Given the description of an element on the screen output the (x, y) to click on. 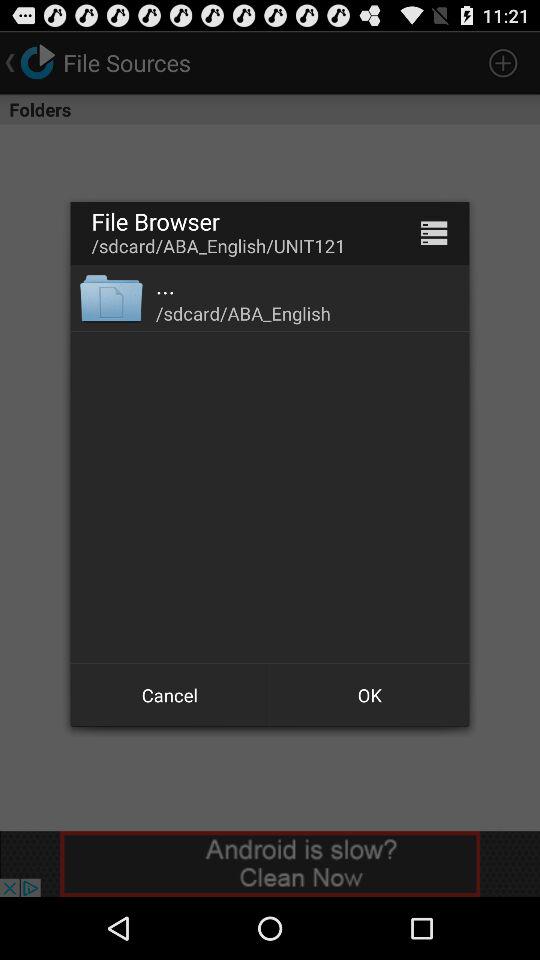
turn off the item below /sdcard/aba_english/unit121 item (165, 285)
